Given the description of an element on the screen output the (x, y) to click on. 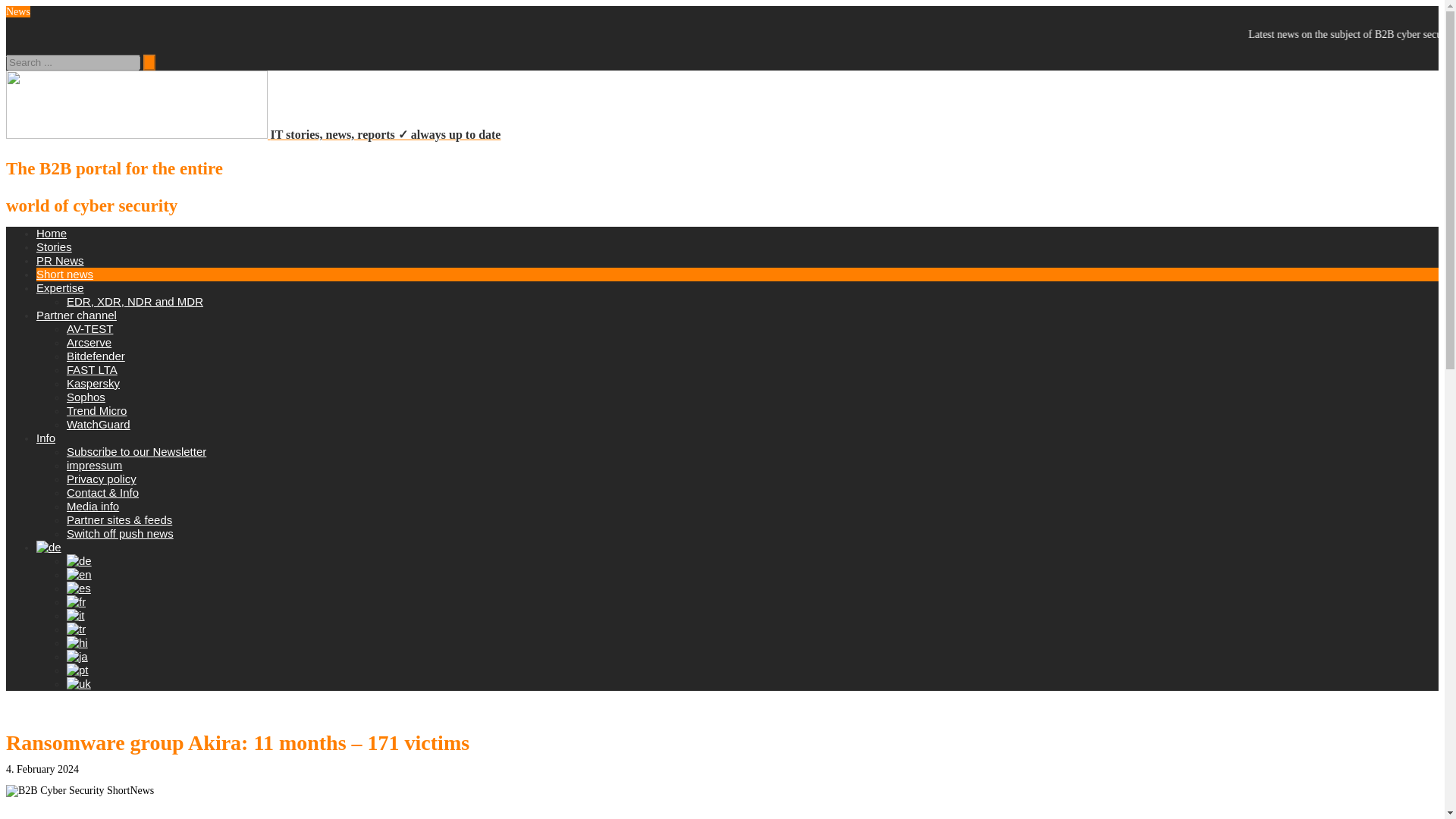
AV-TEST (89, 328)
impressum (94, 464)
FAST LTA (91, 369)
Arcserve (89, 341)
Partner channel (76, 314)
Bitdefender (95, 355)
Short news (64, 273)
Trend Micro (96, 410)
Subscribe to our Newsletter (136, 451)
Privacy policy (101, 478)
Home (51, 232)
WatchGuard (98, 423)
Info (45, 437)
Stories (53, 246)
Sophos (85, 396)
